Given the description of an element on the screen output the (x, y) to click on. 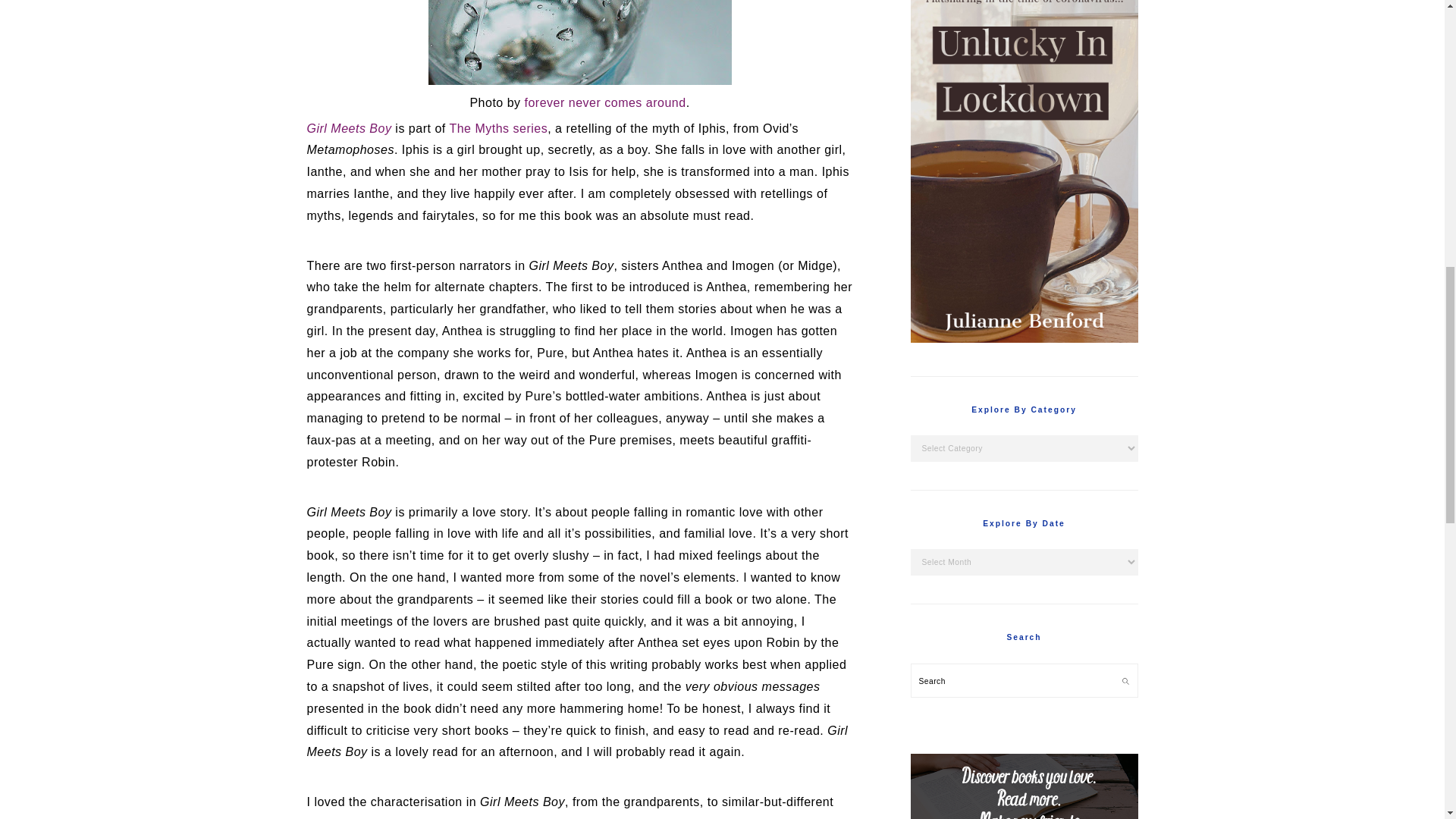
forever never comes around (604, 102)
The Myths series (497, 128)
Girl Meets Boy (348, 128)
